Given the description of an element on the screen output the (x, y) to click on. 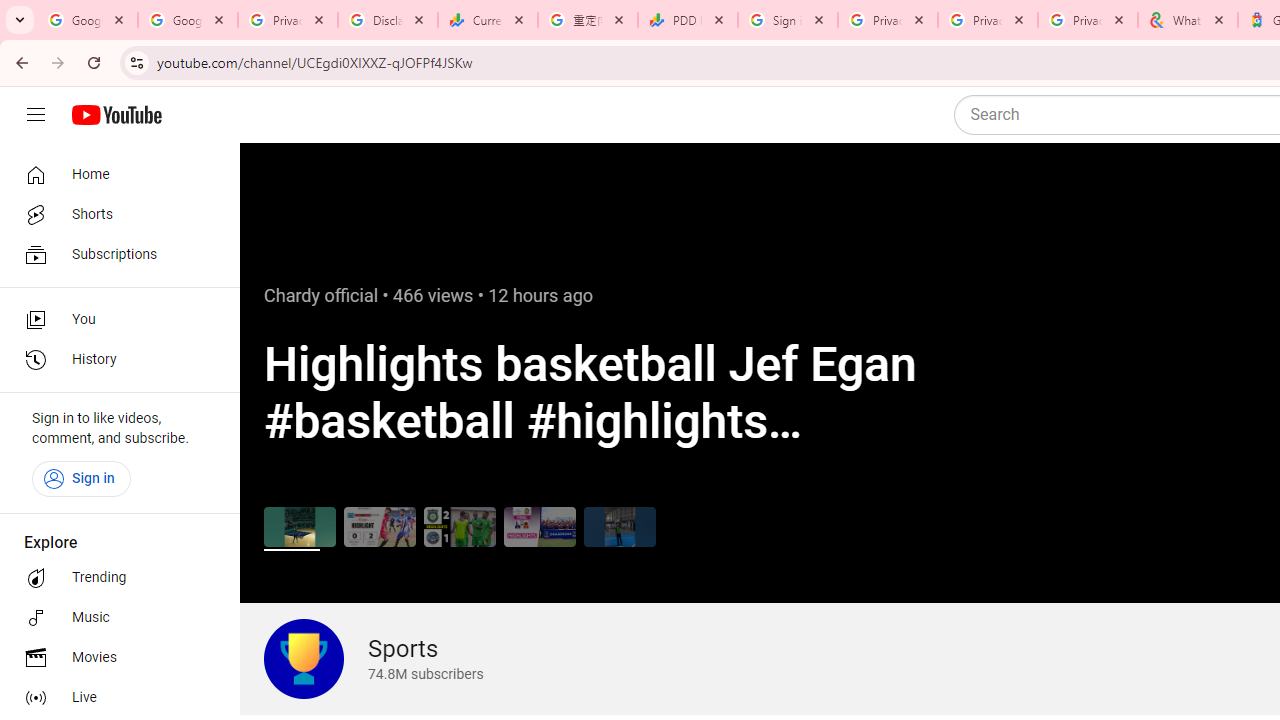
Music (113, 617)
Subscriptions (113, 254)
Privacy Checkup (1087, 20)
Movies (113, 657)
Currencies - Google Finance (487, 20)
Privacy Checkup (988, 20)
